Given the description of an element on the screen output the (x, y) to click on. 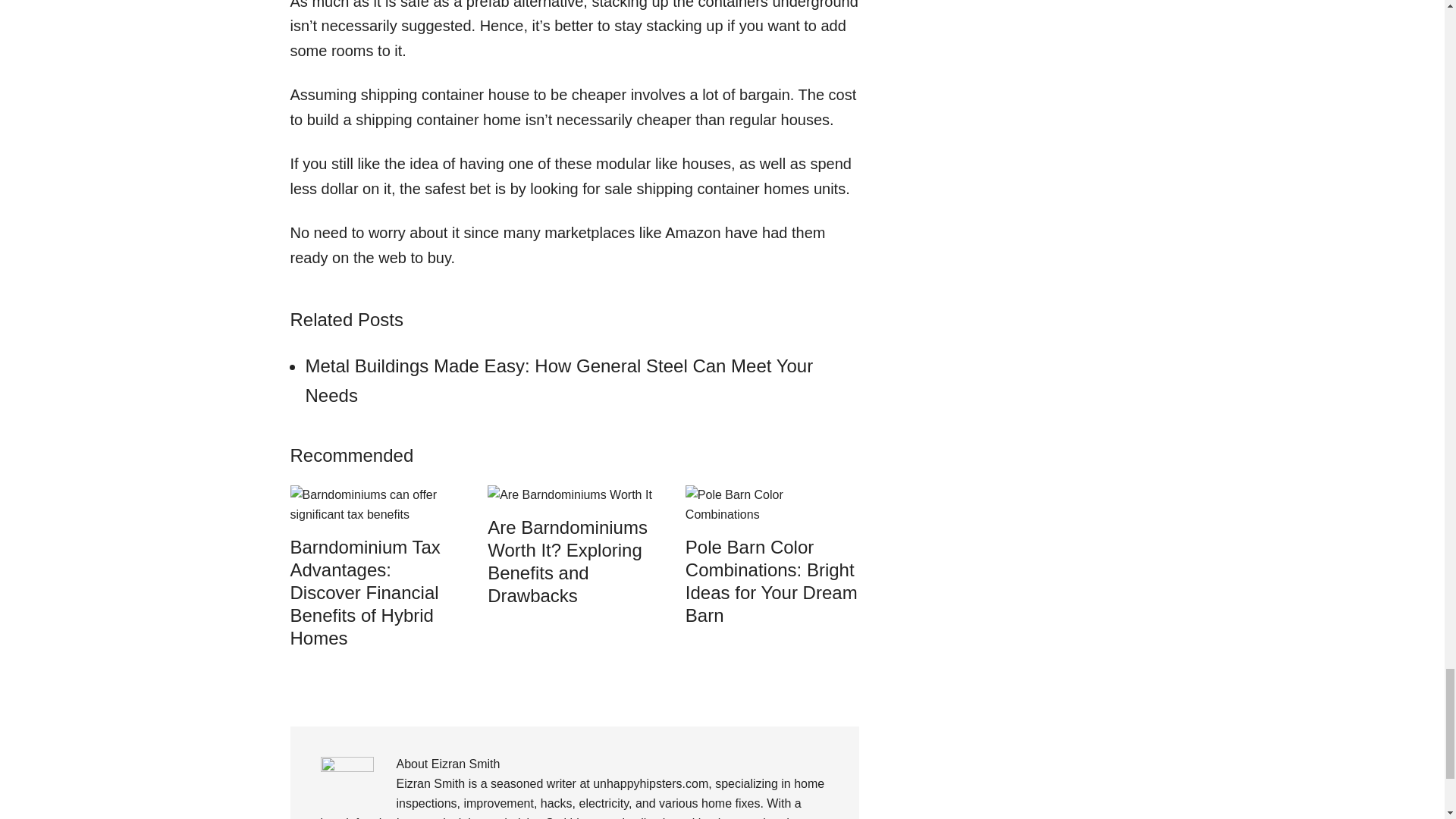
Are Barndominiums Worth It? Exploring Benefits and Drawbacks (569, 494)
Are Barndominiums Worth It? Exploring Benefits and Drawbacks (567, 561)
Are Barndominiums Worth It? Exploring Benefits and Drawbacks (567, 561)
